Given the description of an element on the screen output the (x, y) to click on. 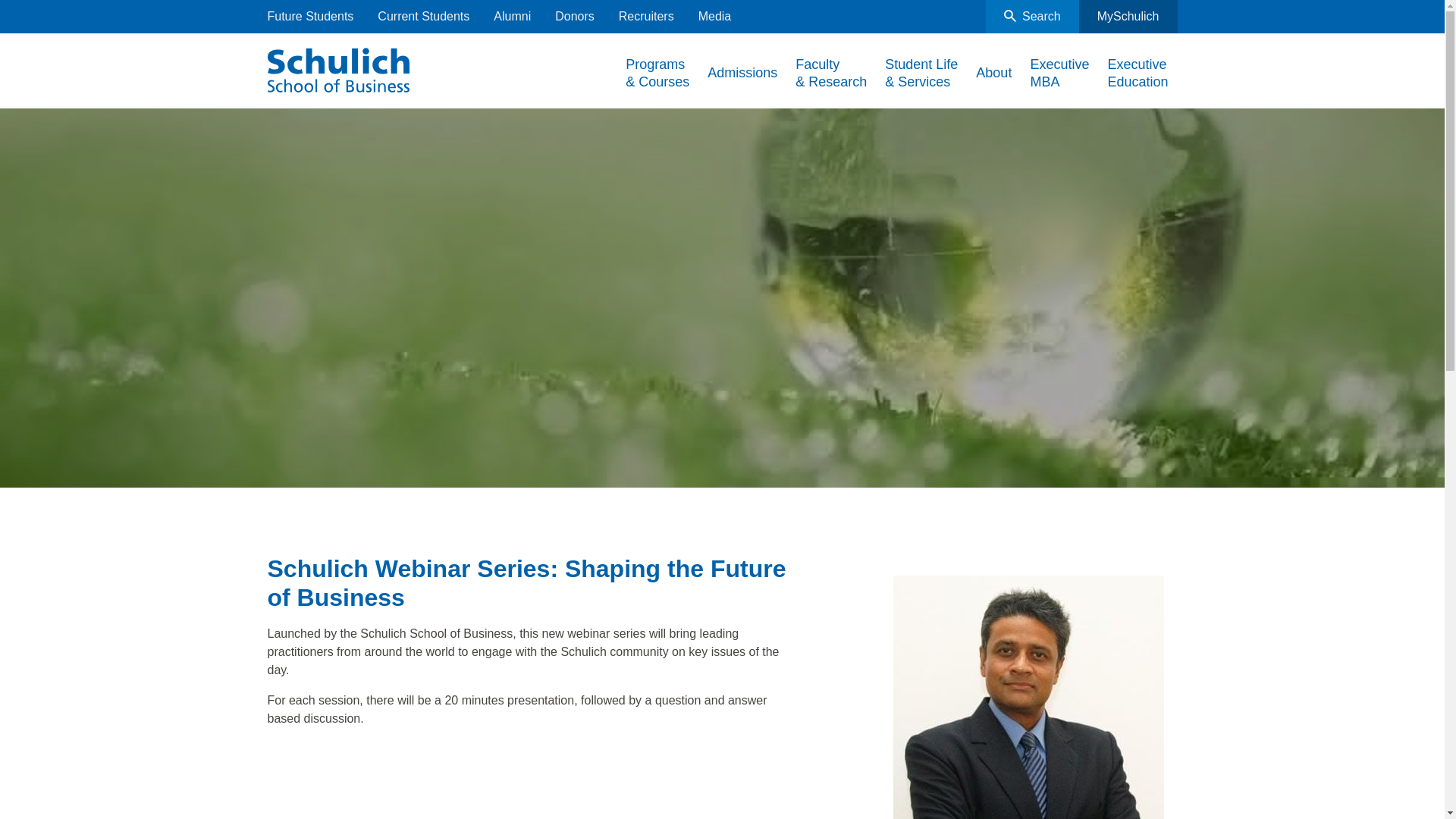
Search (1031, 16)
Future Students (309, 16)
Return to the homepage (337, 67)
Media (715, 16)
Schulich School of Business (337, 67)
Donors (574, 16)
Alumni (512, 16)
Recruiters (646, 16)
Current Students (422, 16)
MySchulich (1127, 16)
